Given the description of an element on the screen output the (x, y) to click on. 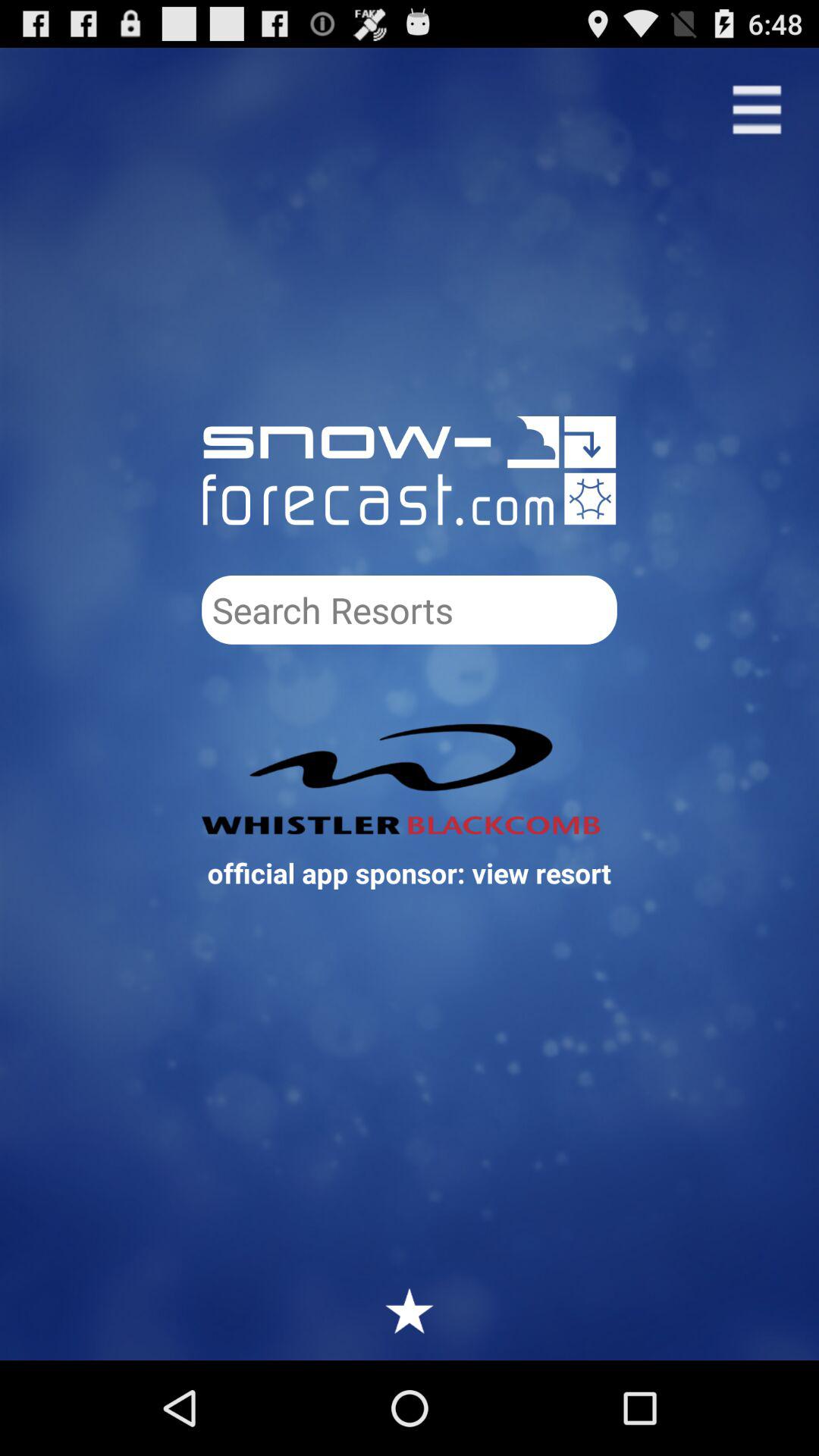
visit app sponsor (409, 779)
